Given the description of an element on the screen output the (x, y) to click on. 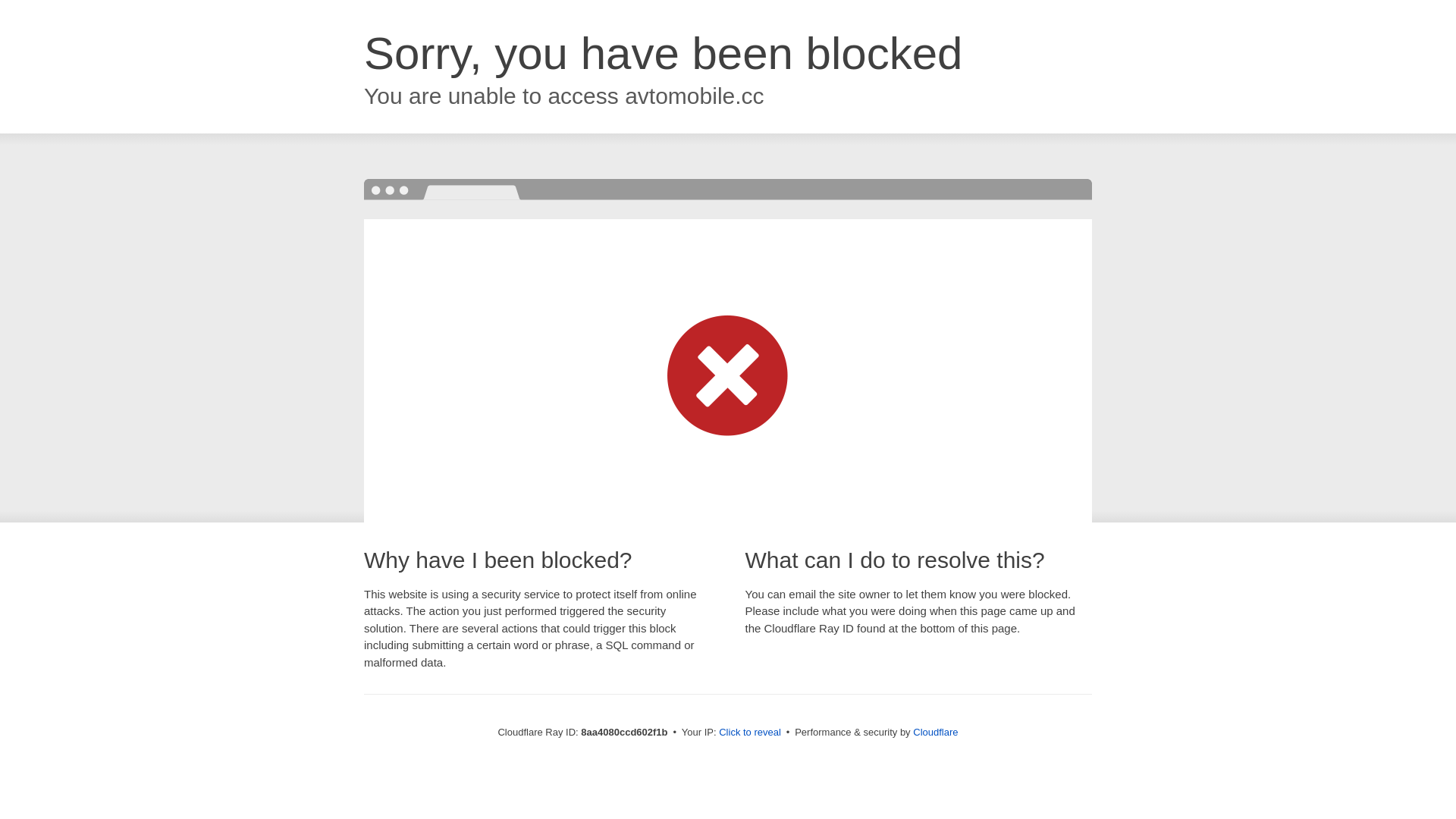
Click to reveal (749, 732)
Cloudflare (935, 731)
